Given the description of an element on the screen output the (x, y) to click on. 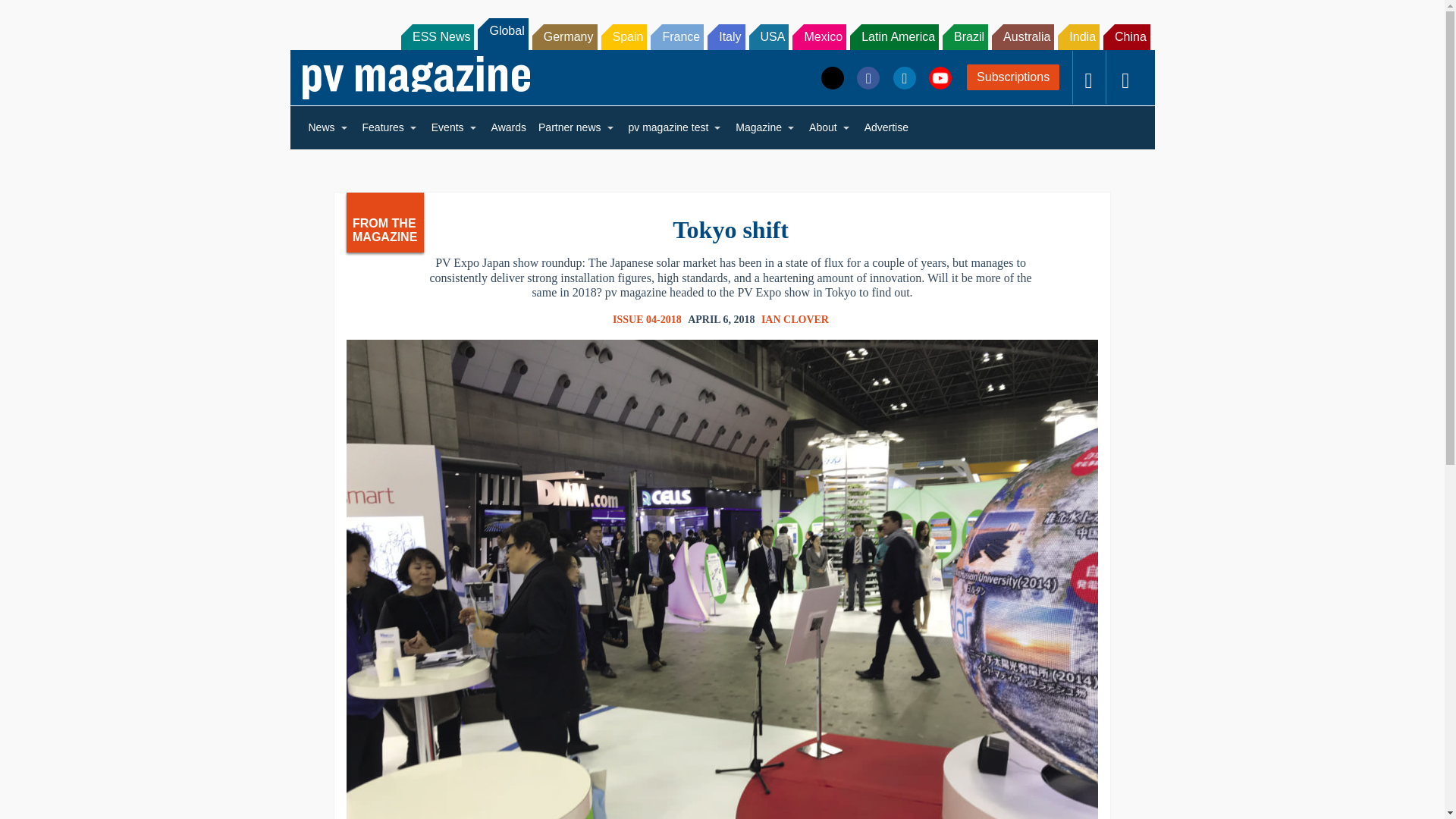
Brazil (965, 36)
ESS News (437, 36)
Italy (725, 36)
India (1078, 36)
Germany (564, 36)
Mexico (818, 36)
France (676, 36)
USA (769, 36)
Subscriptions (1012, 77)
China (1126, 36)
